Given the description of an element on the screen output the (x, y) to click on. 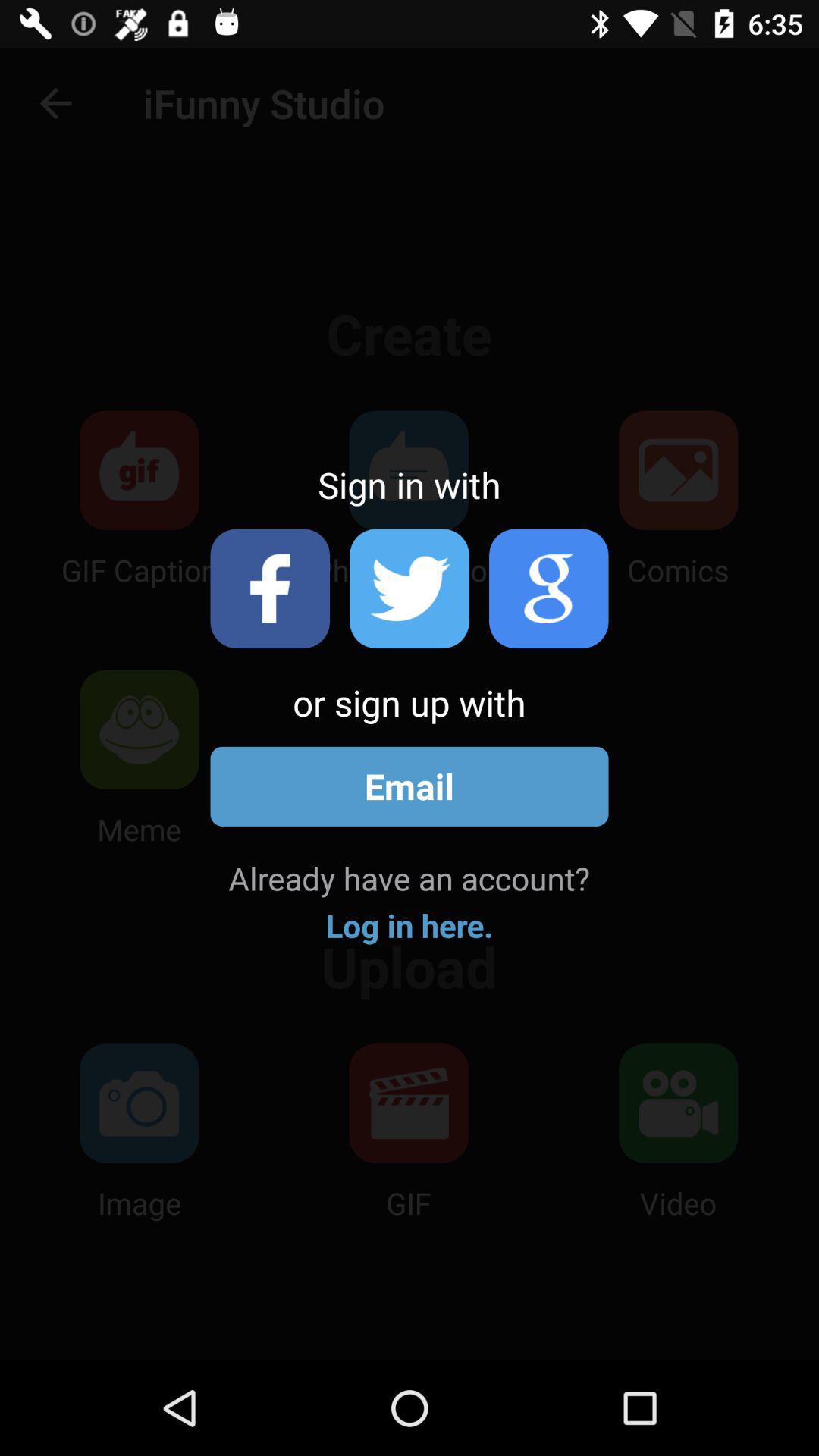
sign into twitter option (409, 588)
